Given the description of an element on the screen output the (x, y) to click on. 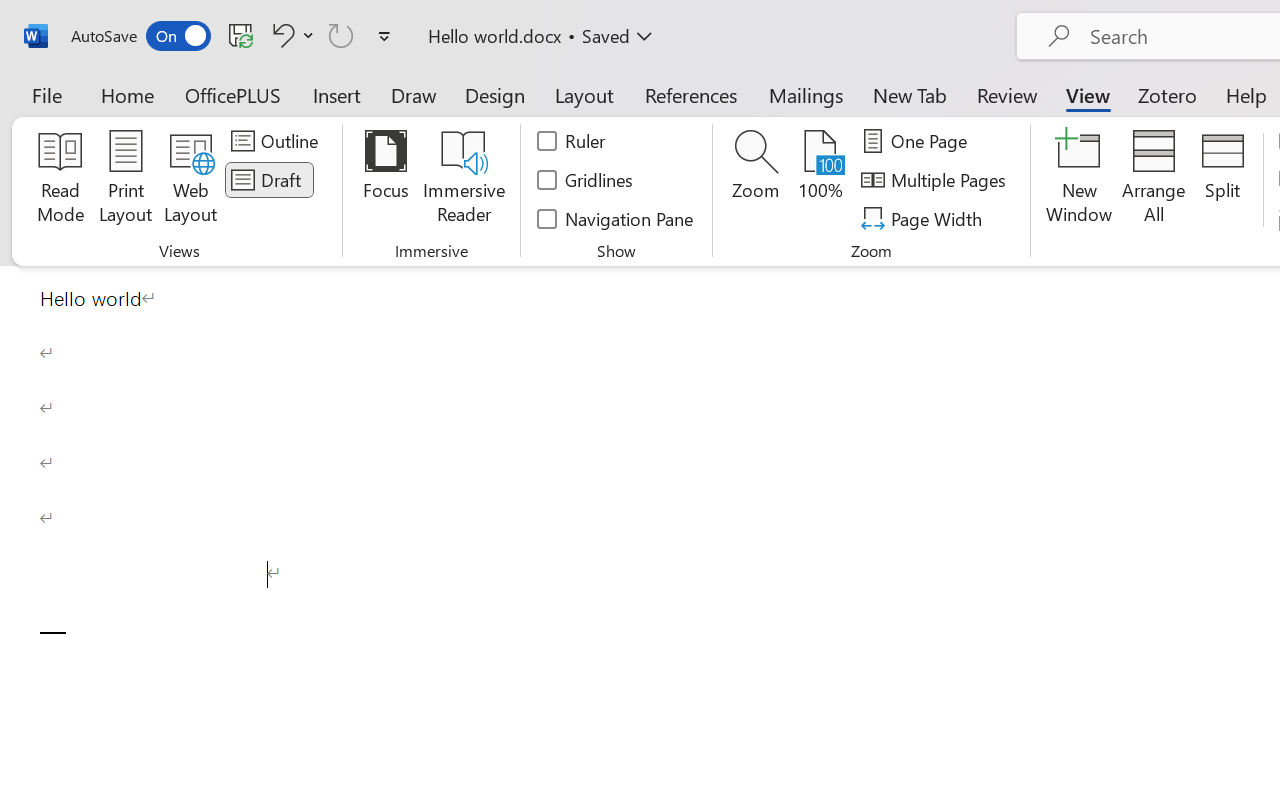
Reset to Cameo (474, 114)
Screen Recording (290, 114)
